Given the description of an element on the screen output the (x, y) to click on. 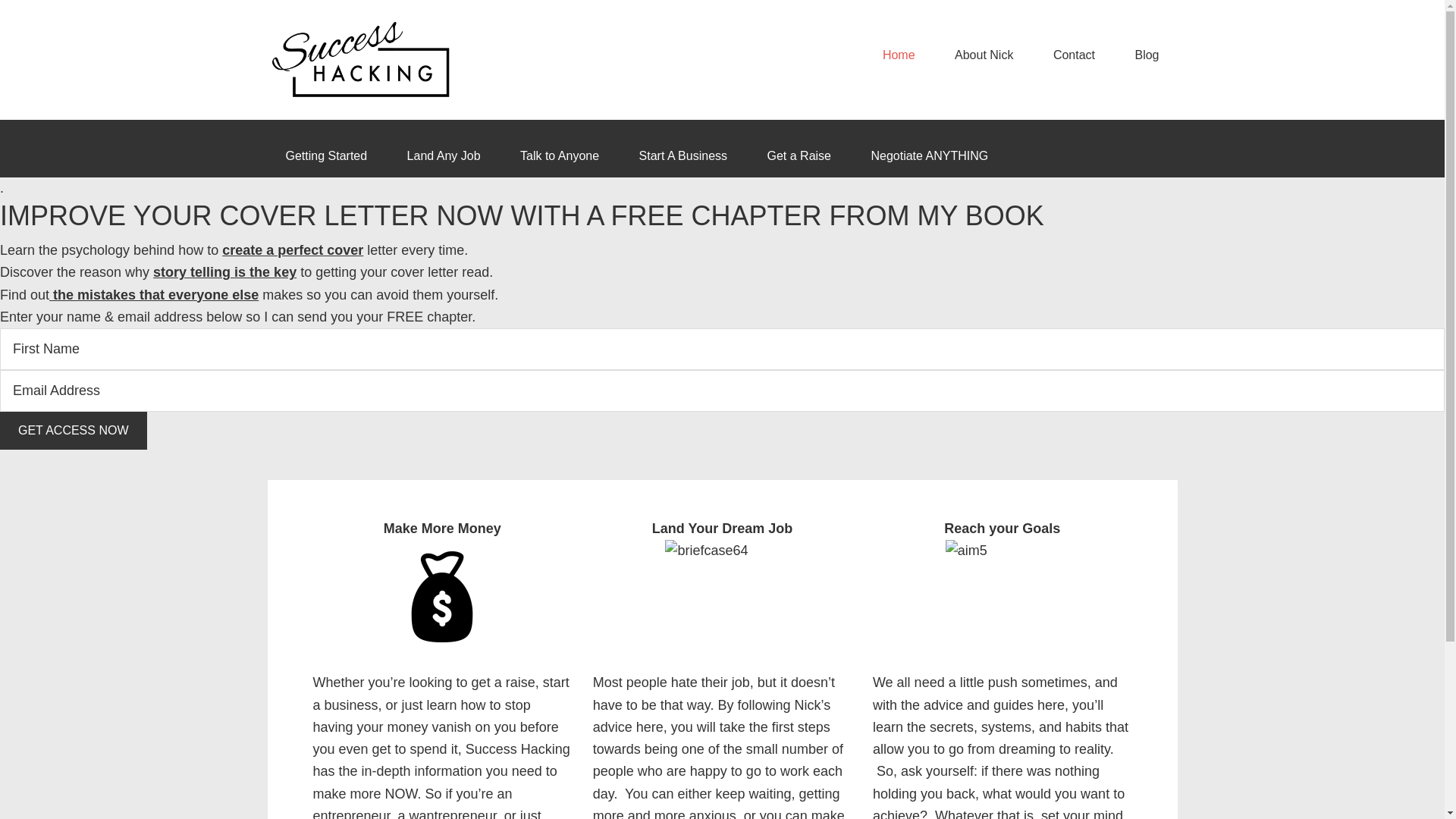
Start A Business (683, 156)
Get Access NOW (73, 430)
Negotiate ANYTHING (928, 156)
Land Any Job (443, 156)
Home (898, 55)
Talk to Anyone (559, 156)
Contact (1074, 55)
About Nick (983, 55)
Getting Started (325, 156)
Blog (1146, 55)
Get a Raise (798, 156)
